Given the description of an element on the screen output the (x, y) to click on. 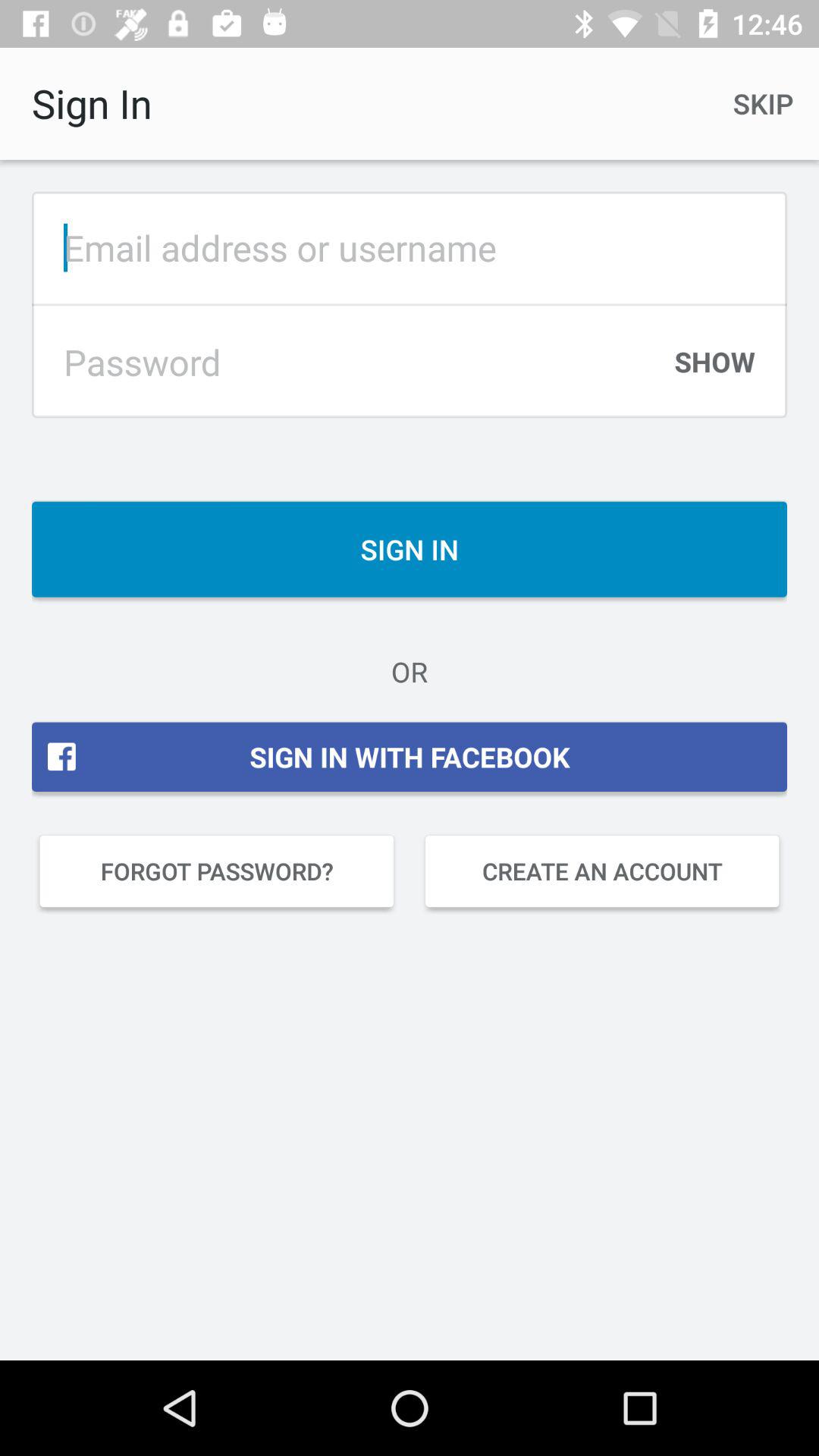
press icon on the left (216, 871)
